Given the description of an element on the screen output the (x, y) to click on. 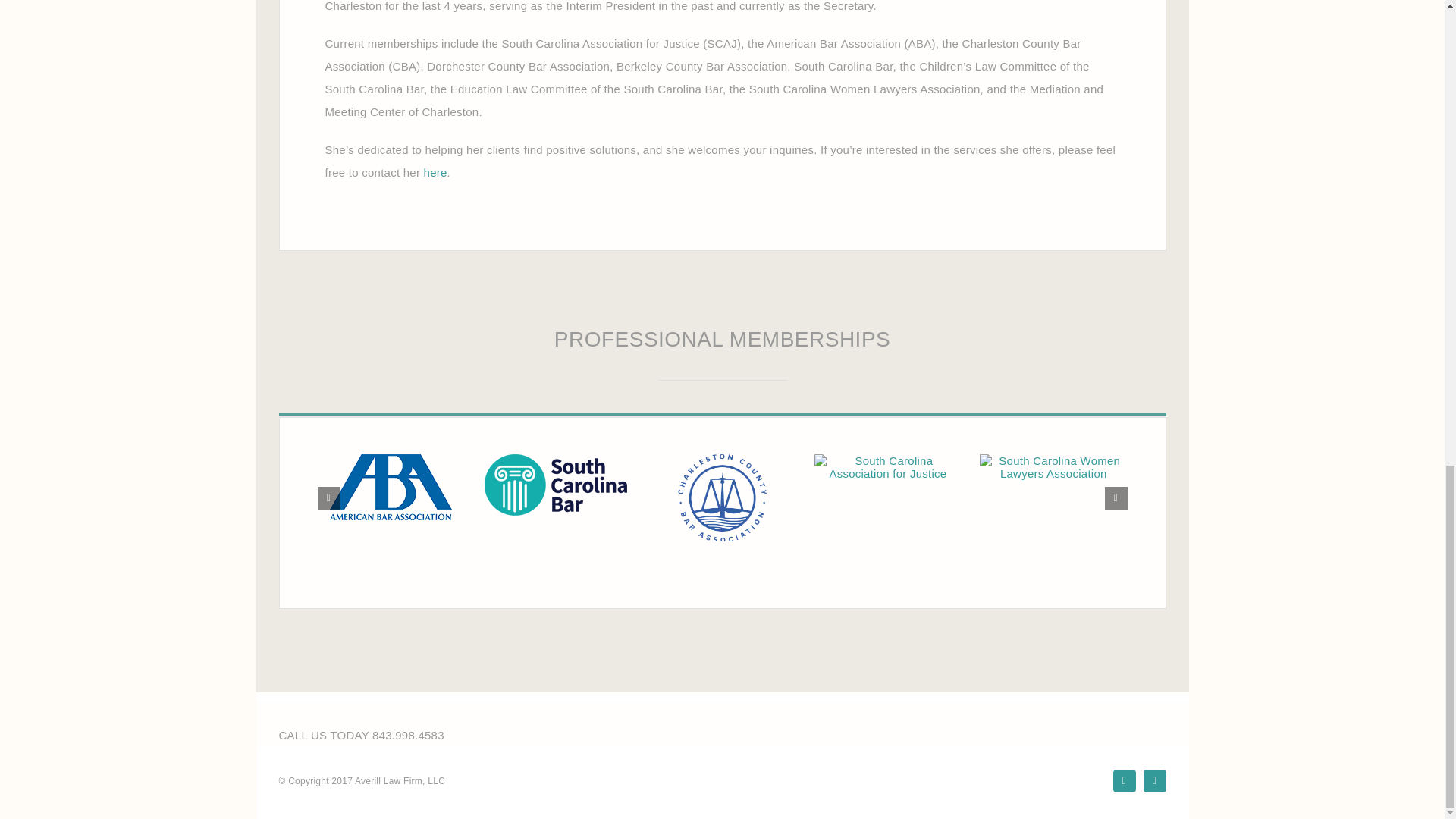
here (434, 172)
LinkedIn (1154, 780)
Facebook (1124, 780)
LinkedIn (1154, 780)
Facebook (1124, 780)
